Given the description of an element on the screen output the (x, y) to click on. 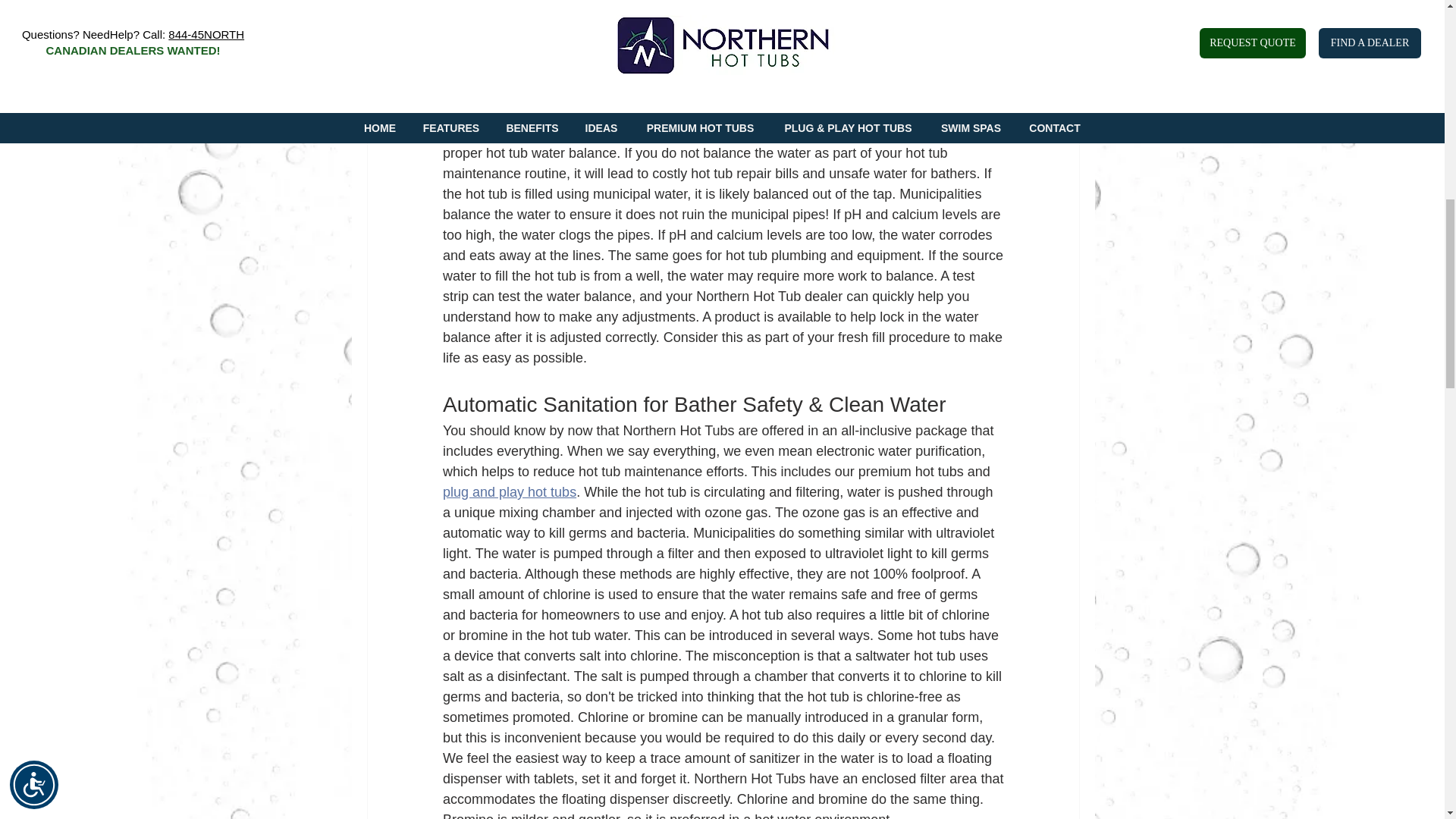
plug and play hot tubs (509, 491)
